Given the description of an element on the screen output the (x, y) to click on. 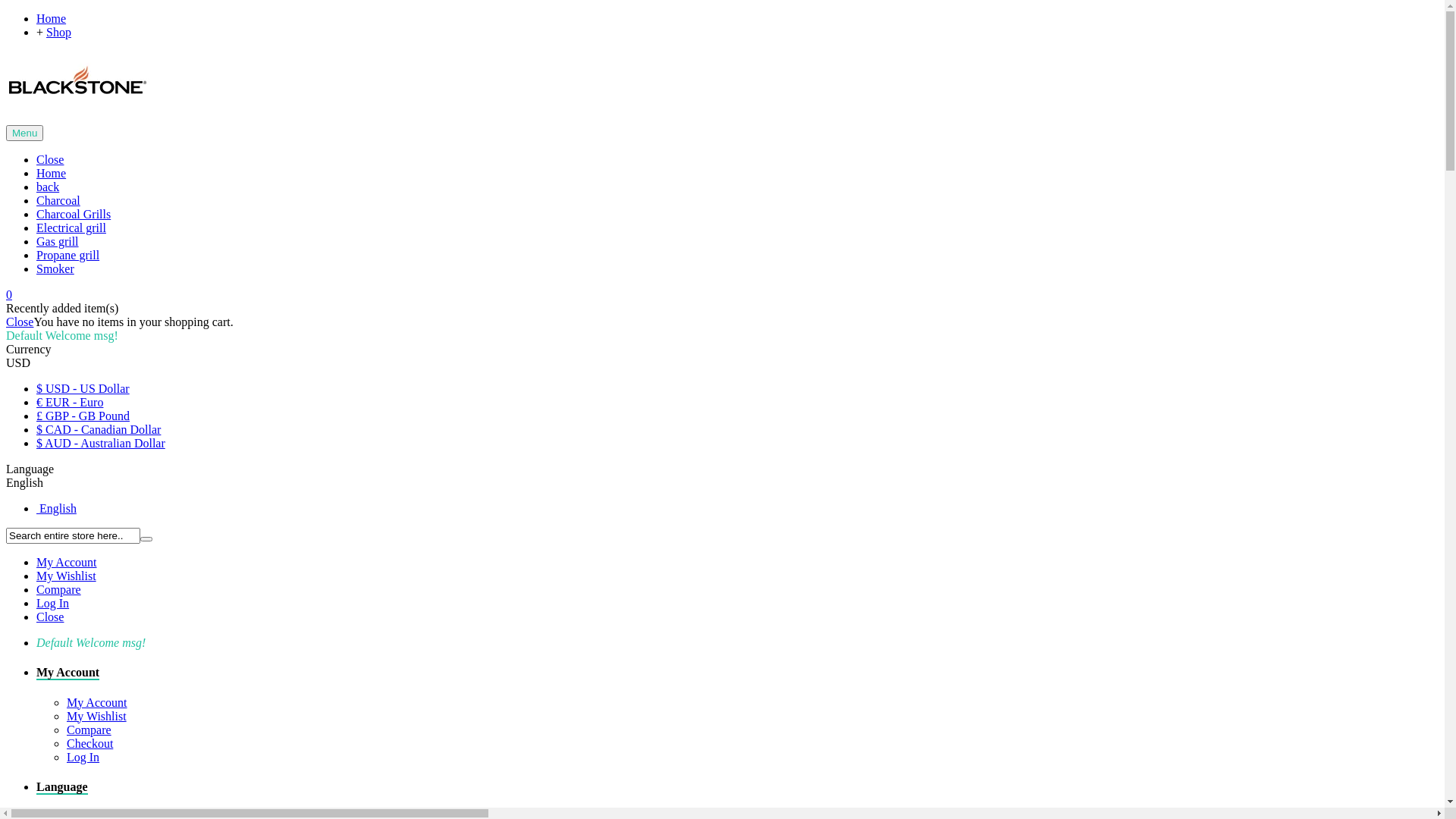
My Wishlist Element type: text (96, 715)
Charcoal Element type: text (58, 200)
$ USD - US Dollar Element type: text (82, 388)
Home Element type: text (50, 18)
Propane grill Element type: text (67, 254)
My Account Element type: text (66, 561)
0 Element type: text (9, 294)
Menu Element type: text (24, 131)
Close Element type: text (49, 616)
Electrical grill Element type: text (71, 227)
Compare Element type: text (58, 589)
Checkout Element type: text (89, 743)
Compare Element type: text (88, 729)
Close Element type: text (49, 159)
Log In Element type: text (82, 756)
$ AUD - Australian Dollar Element type: text (100, 442)
Charcoal Grills Element type: text (73, 213)
Close Element type: text (19, 321)
Gas grill Element type: text (57, 241)
USD Element type: text (18, 362)
Shop Element type: text (58, 31)
Menu Element type: text (24, 133)
back Element type: text (47, 186)
Smoker Element type: text (55, 268)
My Account Element type: text (96, 702)
My Wishlist Element type: text (66, 575)
Log In Element type: text (52, 602)
Home Element type: text (50, 172)
$ CAD - Canadian Dollar Element type: text (98, 429)
 English Element type: text (56, 508)
English Element type: text (24, 482)
